Given the description of an element on the screen output the (x, y) to click on. 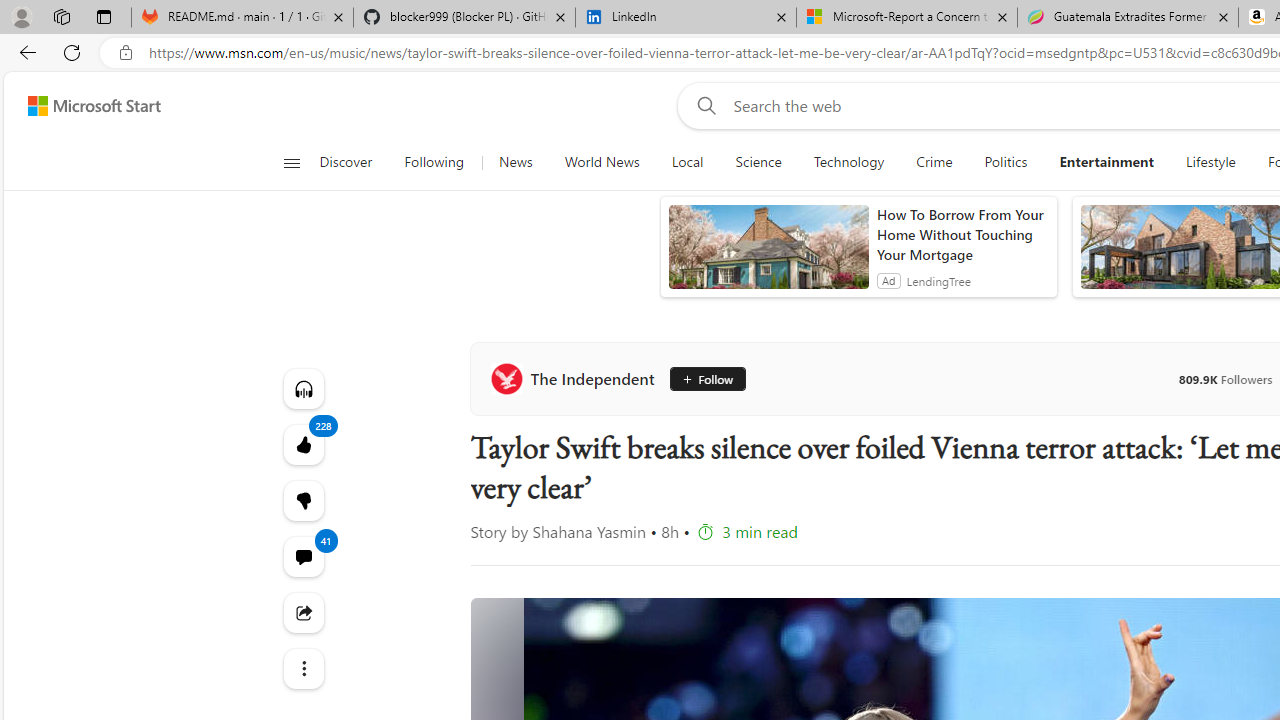
228 Like (302, 444)
View comments 41 Comment (302, 556)
